Given the description of an element on the screen output the (x, y) to click on. 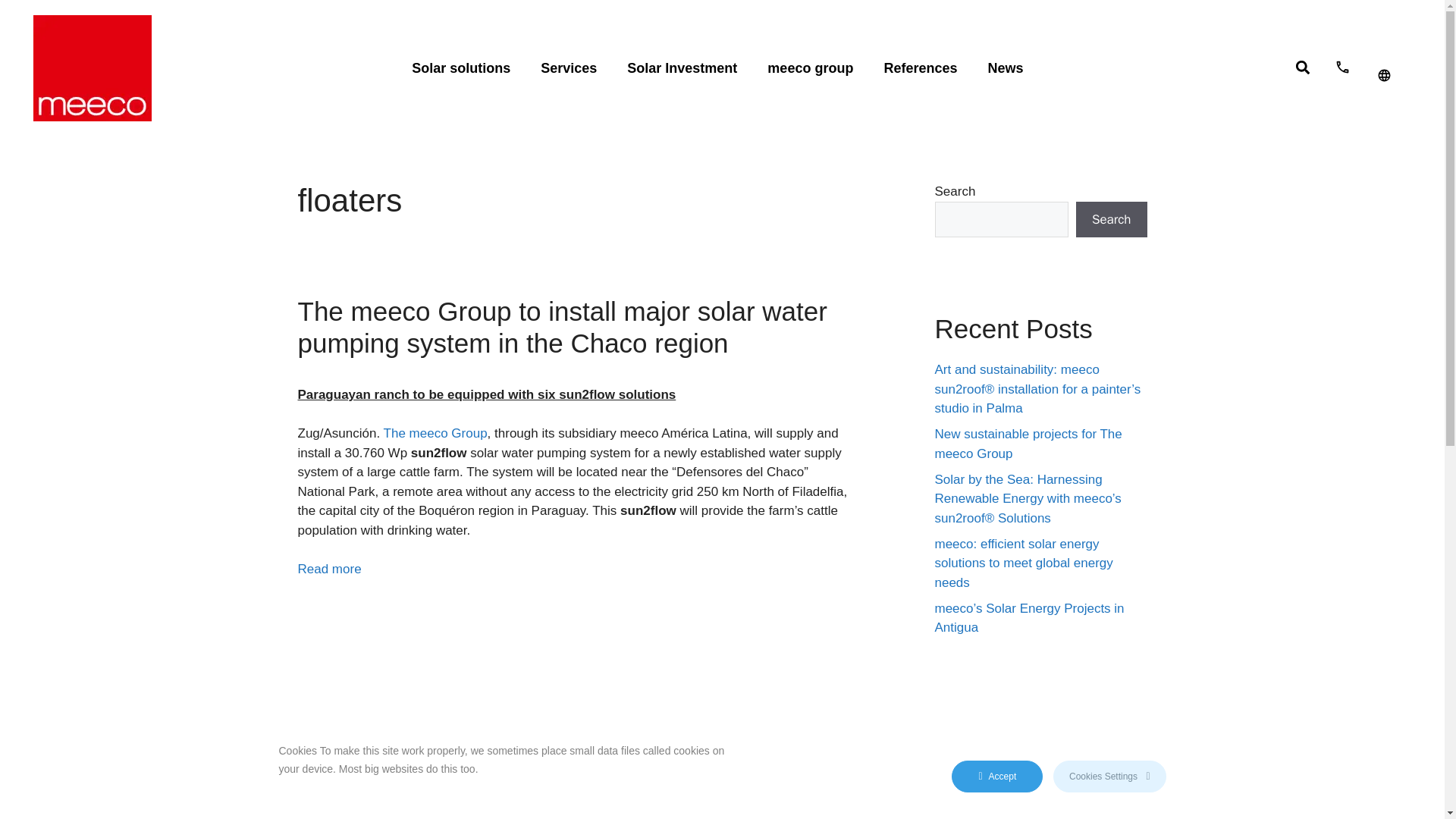
References (919, 67)
Services (568, 67)
meeco group (809, 67)
Solar solutions (460, 67)
Solar Investment (681, 67)
News (1005, 67)
